Given the description of an element on the screen output the (x, y) to click on. 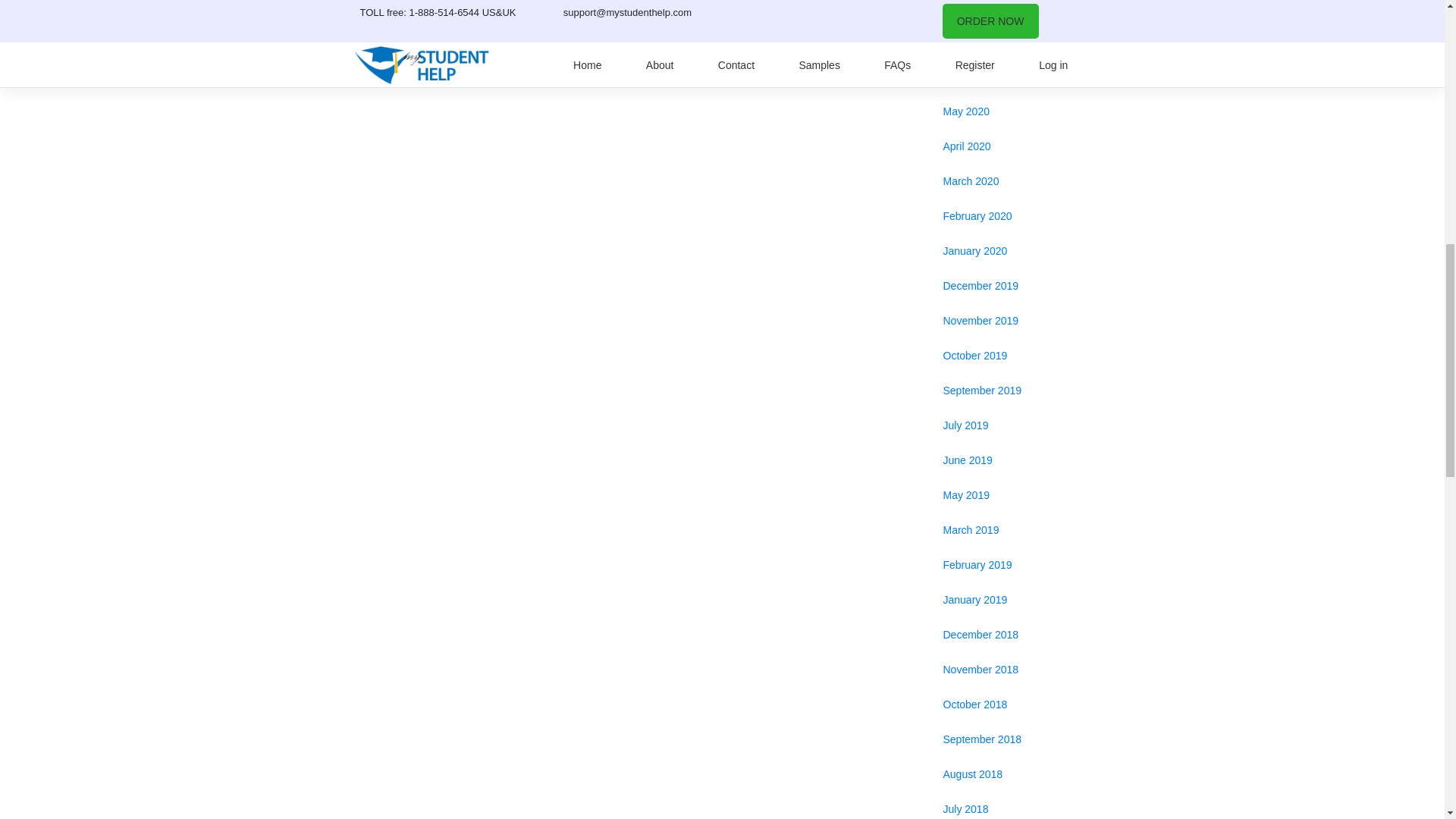
To whom it may concern: (823, 9)
June 2020 (1007, 76)
August 2020 (1007, 12)
July 2020 (1007, 41)
Scientific article preparation (436, 9)
